Given the description of an element on the screen output the (x, y) to click on. 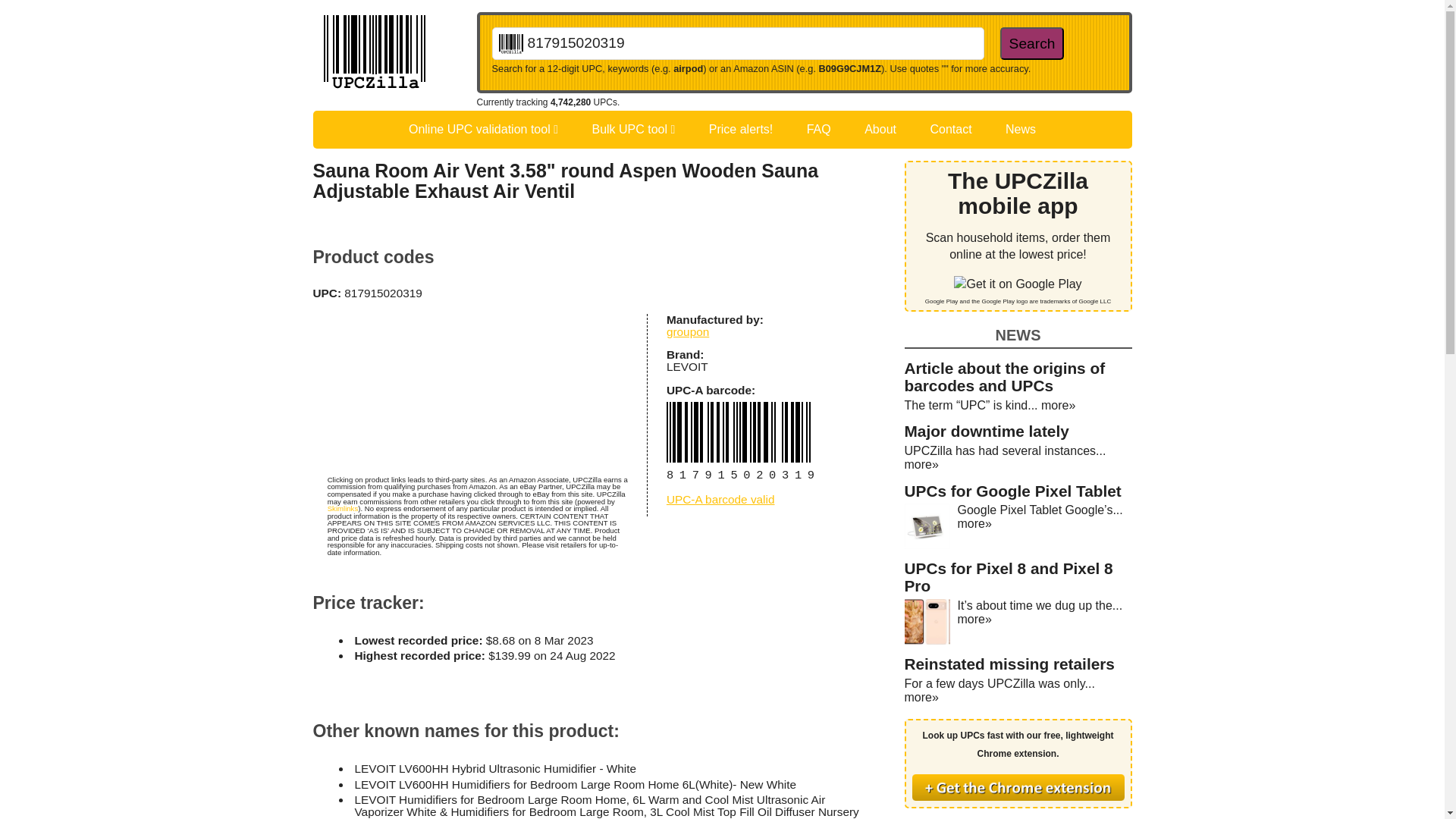
Contact (950, 129)
UPCZilla logo (374, 53)
Skimlinks (342, 508)
UPCZilla (394, 53)
Major downtime lately (986, 430)
UPCs for Google Pixel Tablet (1012, 490)
FAQ (818, 129)
Article about the origins of barcodes and UPCs (1004, 376)
817915020319 (738, 42)
About (879, 129)
Reinstated missing retailers (1008, 663)
Major downtime lately (986, 430)
News (1020, 129)
groupon (687, 331)
Reinstated missing retailers (1008, 663)
